Given the description of an element on the screen output the (x, y) to click on. 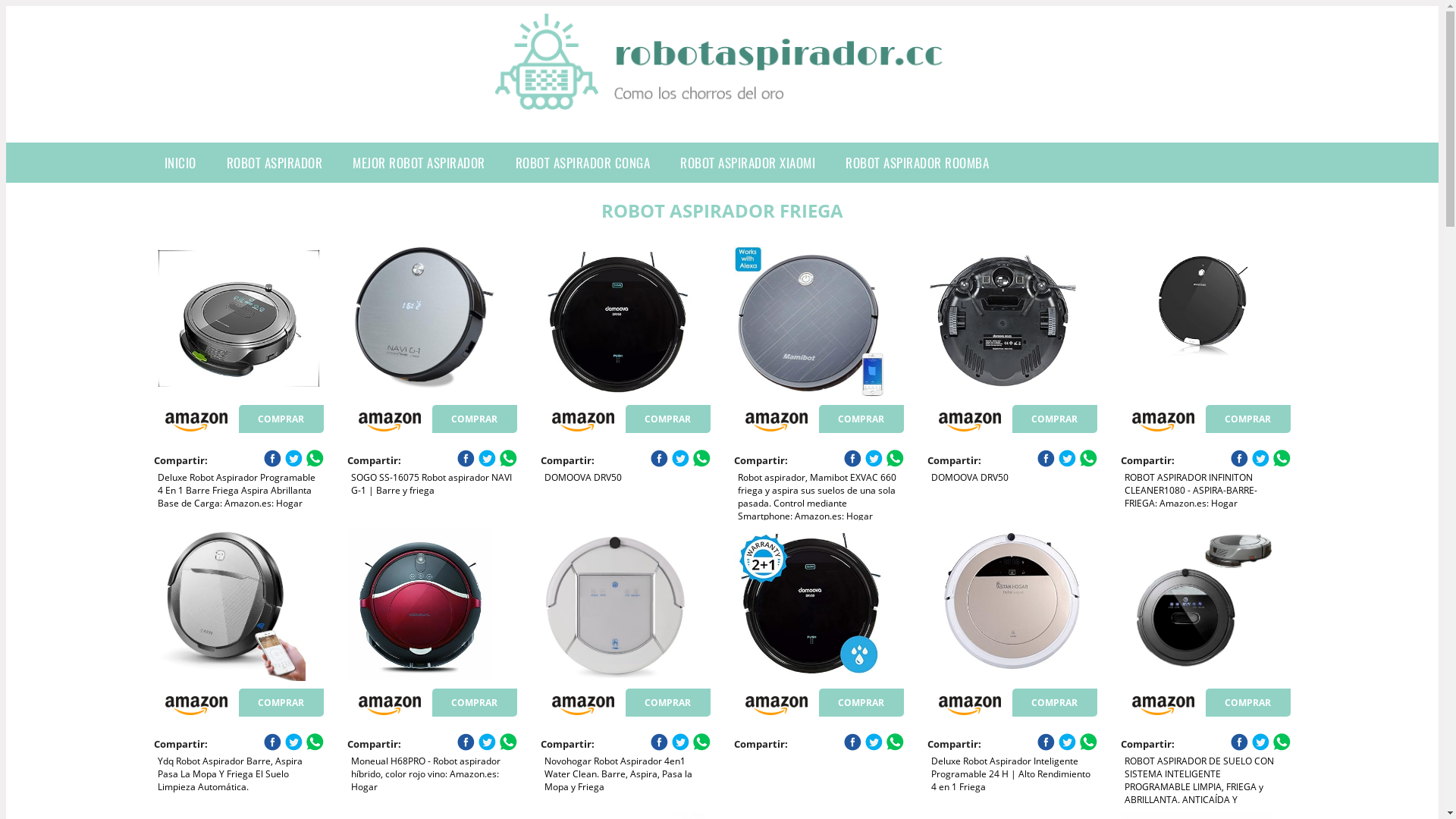
Inicio Element type: hover (721, 102)
DOMOOVA DRV50 Element type: hover (1012, 321)
COMPRAR Element type: text (1247, 418)
MEJOR ROBOT ASPIRADOR Element type: text (418, 162)
COMPRAR Element type: text (861, 702)
COMPRAR Element type: text (1054, 418)
COMPRAR Element type: text (1247, 702)
COMPRAR Element type: text (667, 418)
COMPRAR Element type: text (1054, 702)
INICIO Element type: text (180, 162)
COMPRAR Element type: text (474, 702)
ROBOT ASPIRADOR ROOMBA Element type: text (917, 162)
ROBOT ASPIRADOR CONGA Element type: text (582, 162)
ROBOT ASPIRADOR Element type: text (274, 162)
COMPRAR Element type: text (667, 702)
ROBOT ASPIRADOR XIAOMI Element type: text (747, 162)
DOMOOVA DRV50 Element type: hover (625, 321)
COMPRAR Element type: text (280, 702)
COMPRAR Element type: text (280, 418)
COMPRAR Element type: text (861, 418)
SOGO SS-16075 Robot aspirador NAVI G-1 | Barre y friega Element type: hover (432, 321)
COMPRAR Element type: text (474, 418)
